Given the description of an element on the screen output the (x, y) to click on. 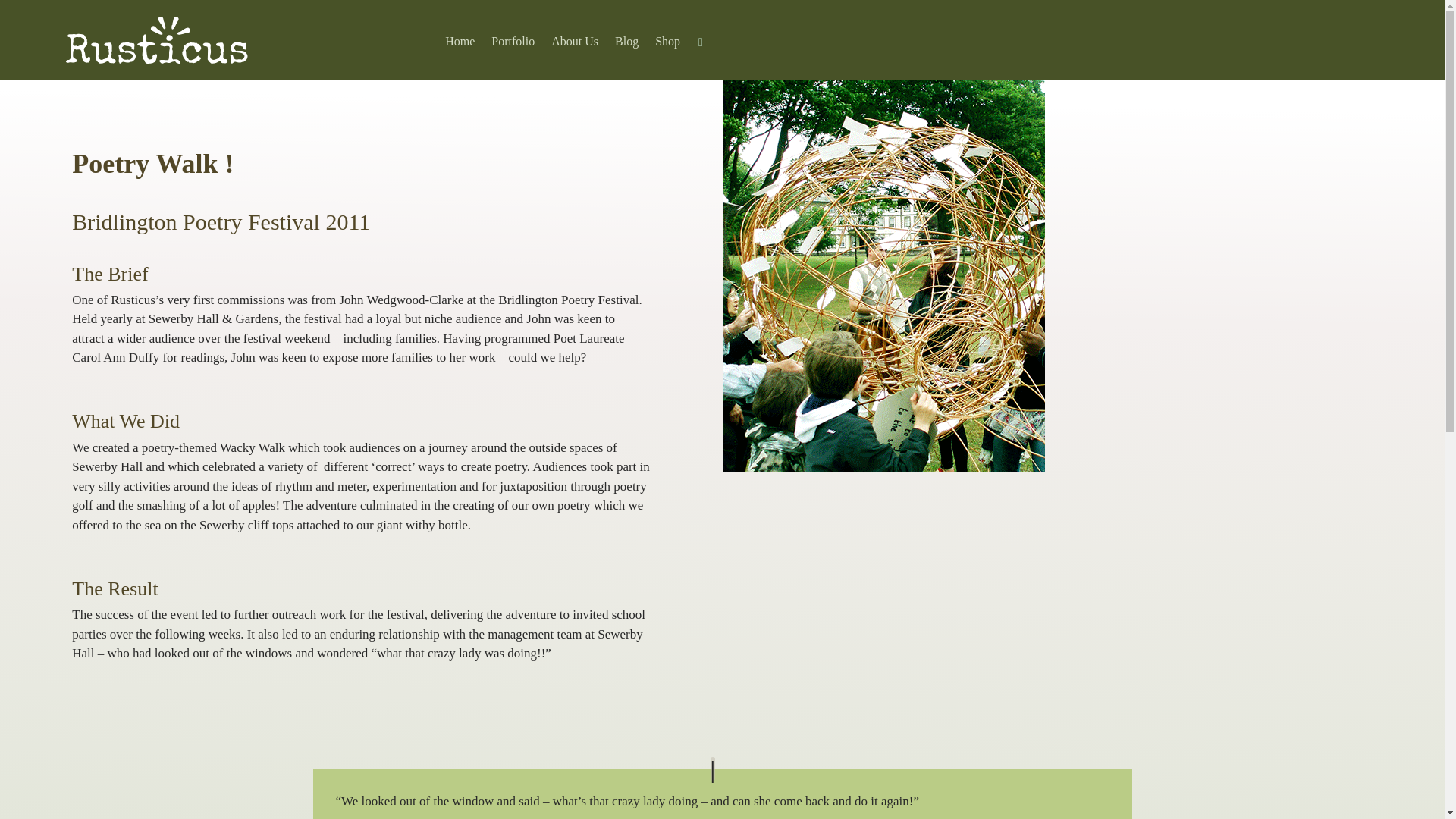
Portfolio (513, 45)
About Us (574, 45)
Shop (667, 45)
rusticus-logo (155, 39)
Blog (626, 45)
Home (459, 45)
